Given the description of an element on the screen output the (x, y) to click on. 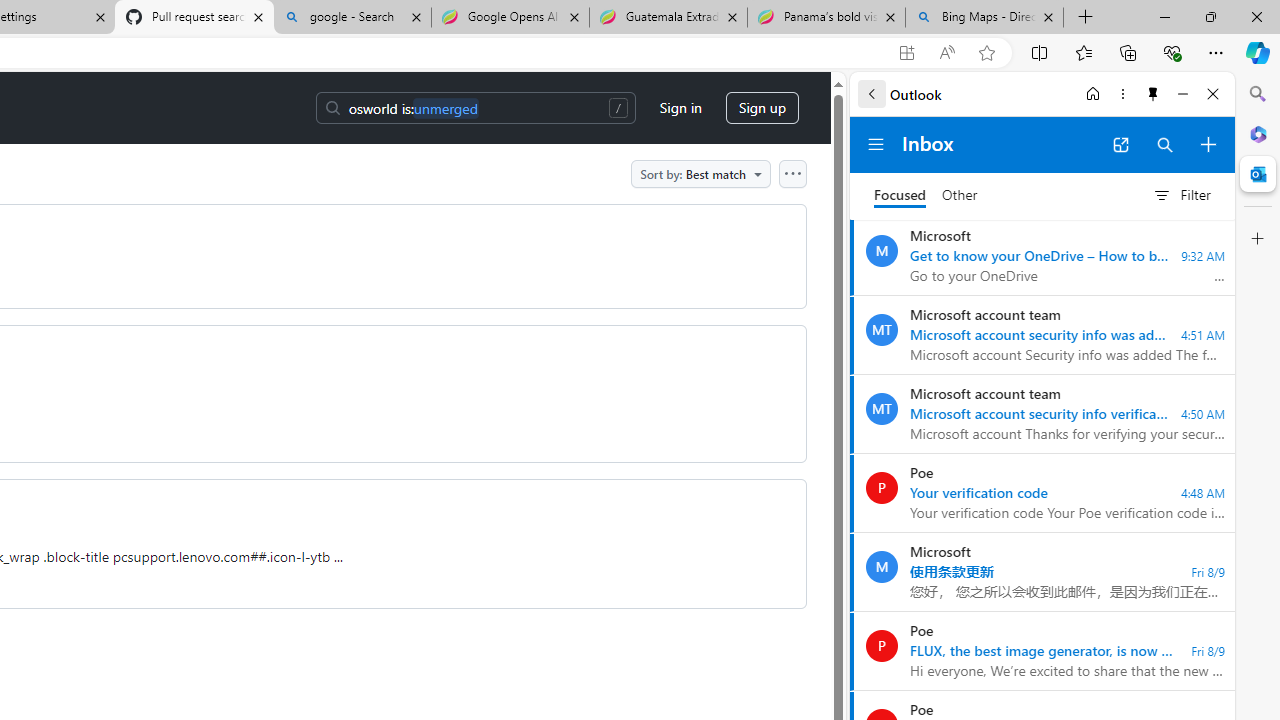
Open column options (792, 173)
